Given the description of an element on the screen output the (x, y) to click on. 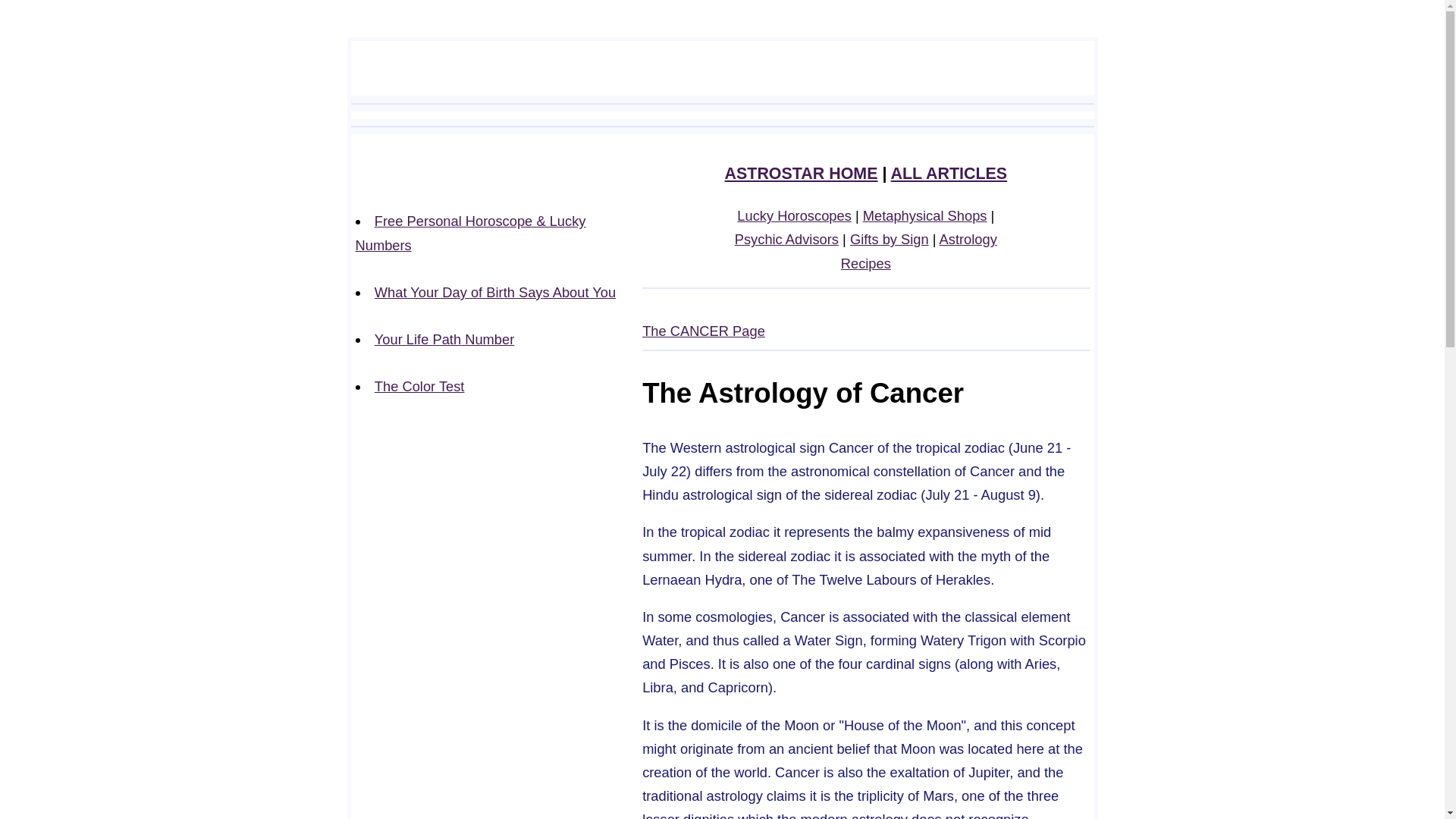
ALL ARTICLES (949, 173)
The Color Test (419, 385)
Lucky Horoscopes (793, 215)
Astrology Recipes (919, 250)
The CANCER Page (703, 330)
ASTROSTAR HOME (801, 173)
Metaphysical Shops (925, 215)
Your Life Path Number (443, 339)
Psychic Advisors (786, 238)
What Your Day of Birth Says About You (494, 292)
